Given the description of an element on the screen output the (x, y) to click on. 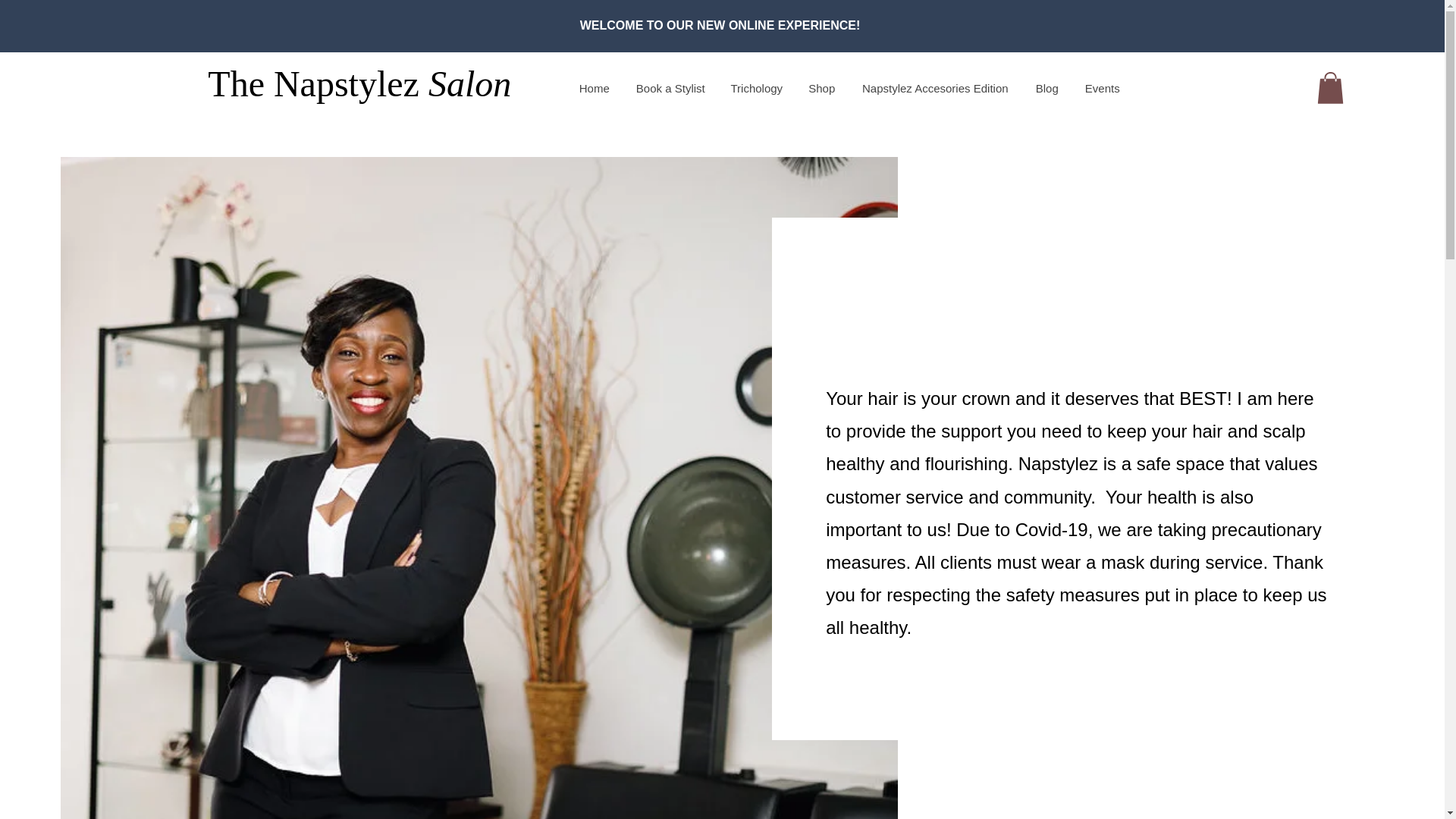
Shop (820, 88)
Log In (1388, 87)
Book a Stylist (670, 88)
Napstylez Accesories Edition (934, 88)
Blog (1046, 88)
Events (1101, 88)
Trichology (755, 88)
Home (594, 88)
